Given the description of an element on the screen output the (x, y) to click on. 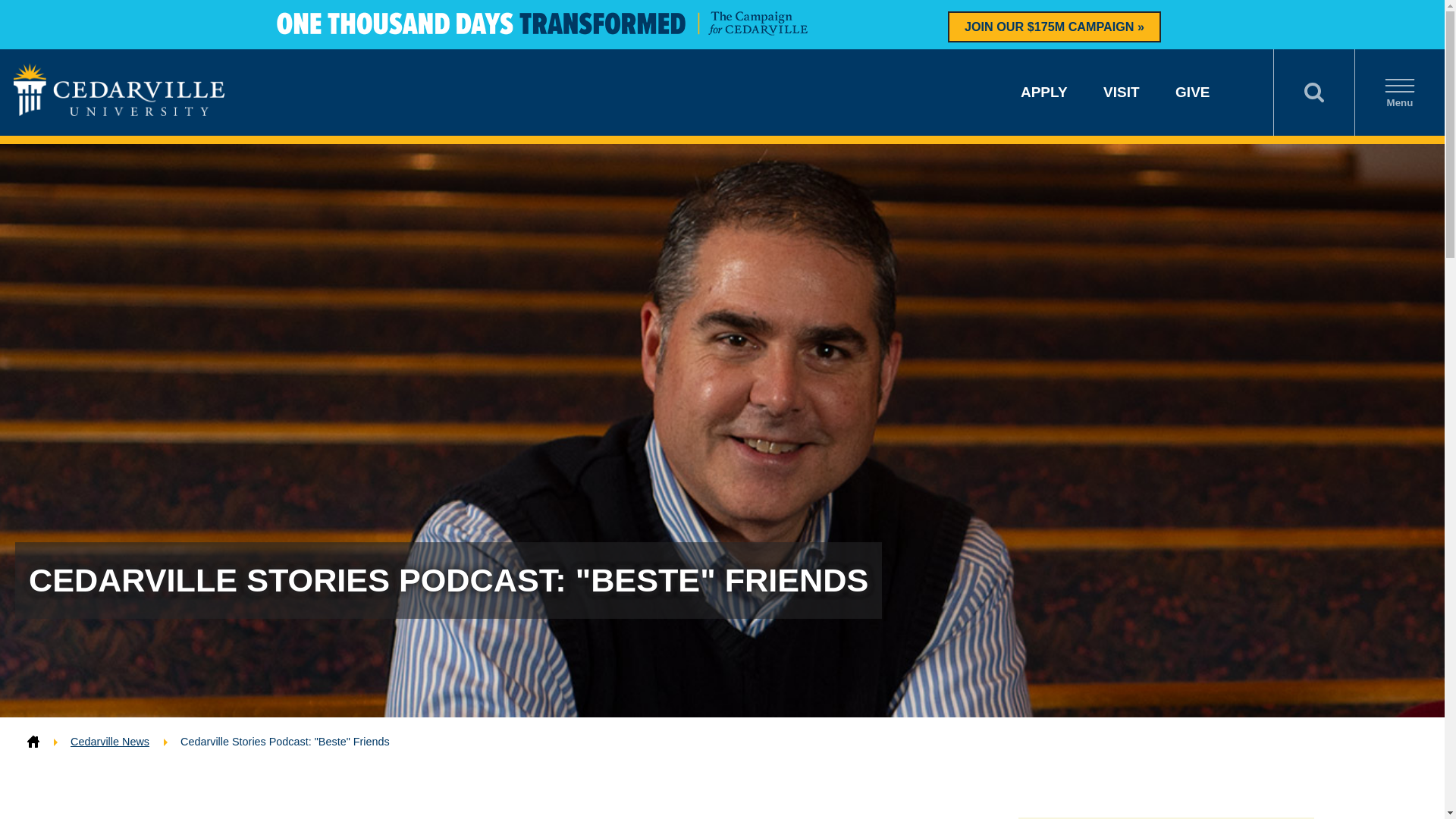
VISIT (1121, 91)
APPLY (1043, 91)
GIVE (1191, 91)
